Given the description of an element on the screen output the (x, y) to click on. 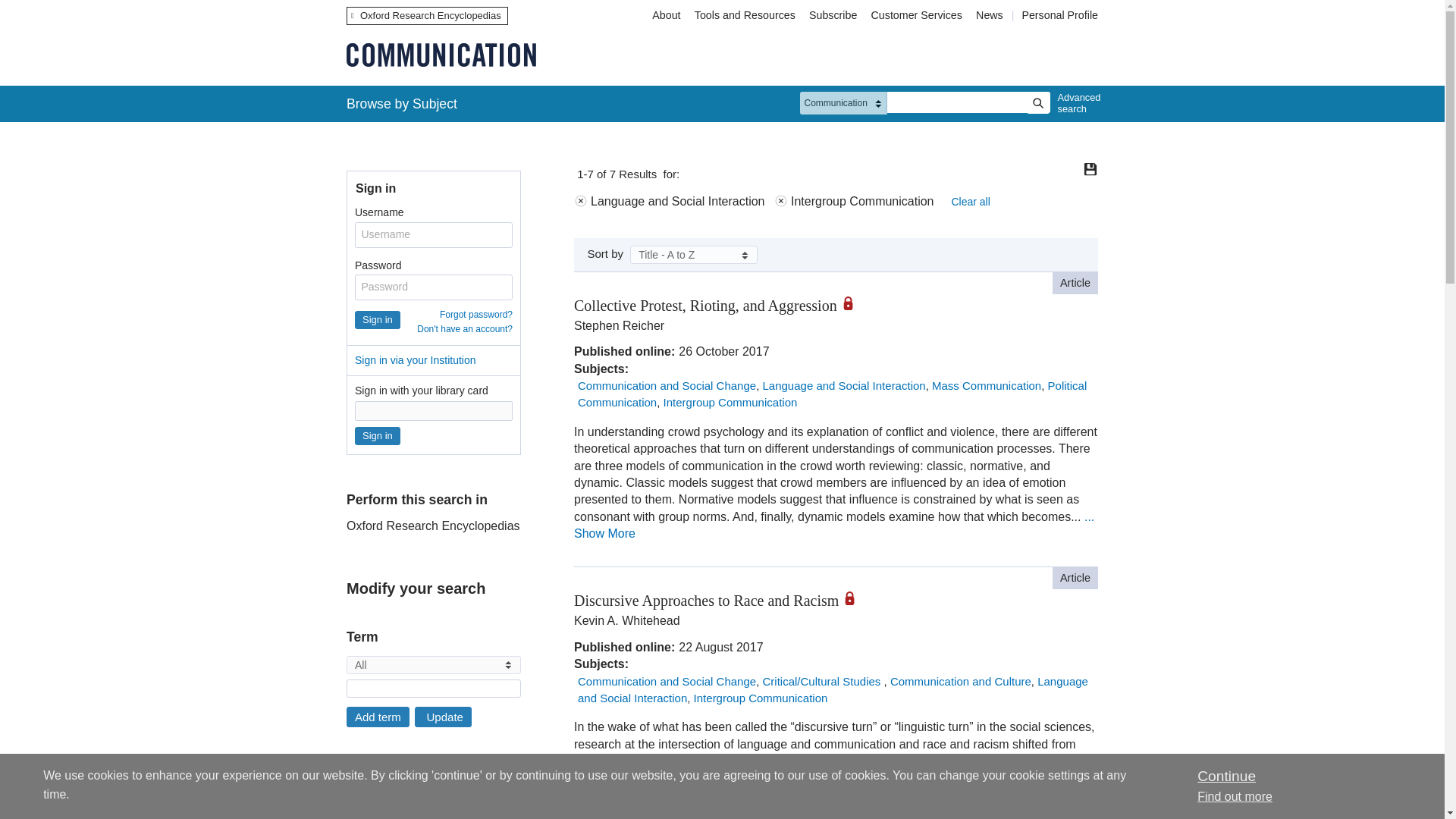
Search (1037, 102)
Personal Profile (1059, 15)
Find out more (1234, 796)
Browse by Subject (401, 103)
Advanced search (1075, 103)
Customer Services (917, 15)
Subject Reference (351, 809)
Save (1090, 168)
About (665, 15)
Tools and Resources (744, 15)
